Given the description of an element on the screen output the (x, y) to click on. 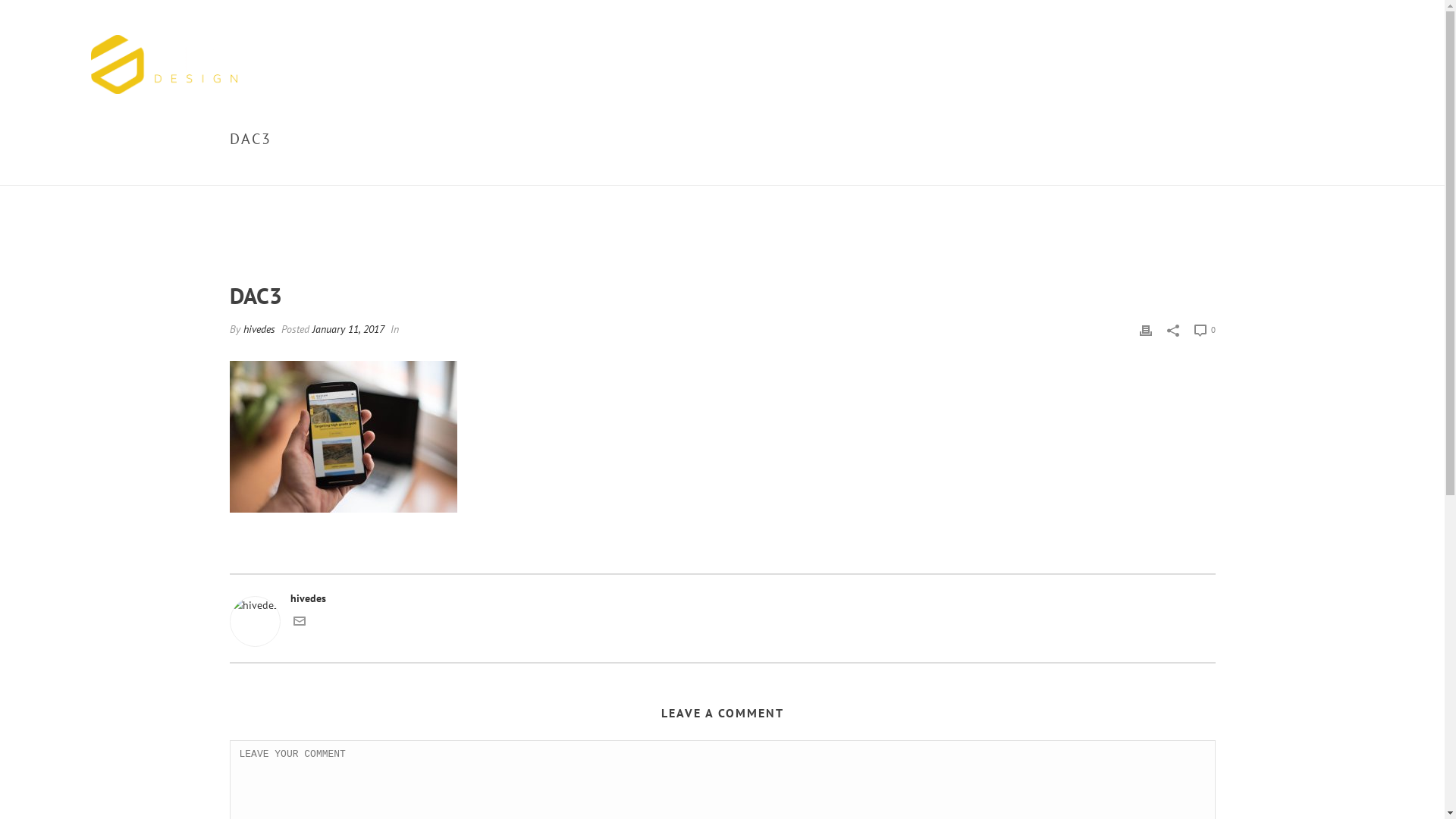
January 11, 2017 Element type: text (348, 328)
0 Element type: text (1203, 329)
hivedes Element type: text (721, 598)
dac3 Element type: hover (721, 151)
HOME Element type: text (1132, 170)
Get in touch with me via email Element type: hover (298, 623)
Print Element type: hover (1145, 329)
Web Design Perth Element type: hover (164, 64)
hivedes Element type: text (258, 328)
Search Element type: text (39, 11)
  Element type: text (721, 151)
DAC3 Element type: text (1164, 170)
